Given the description of an element on the screen output the (x, y) to click on. 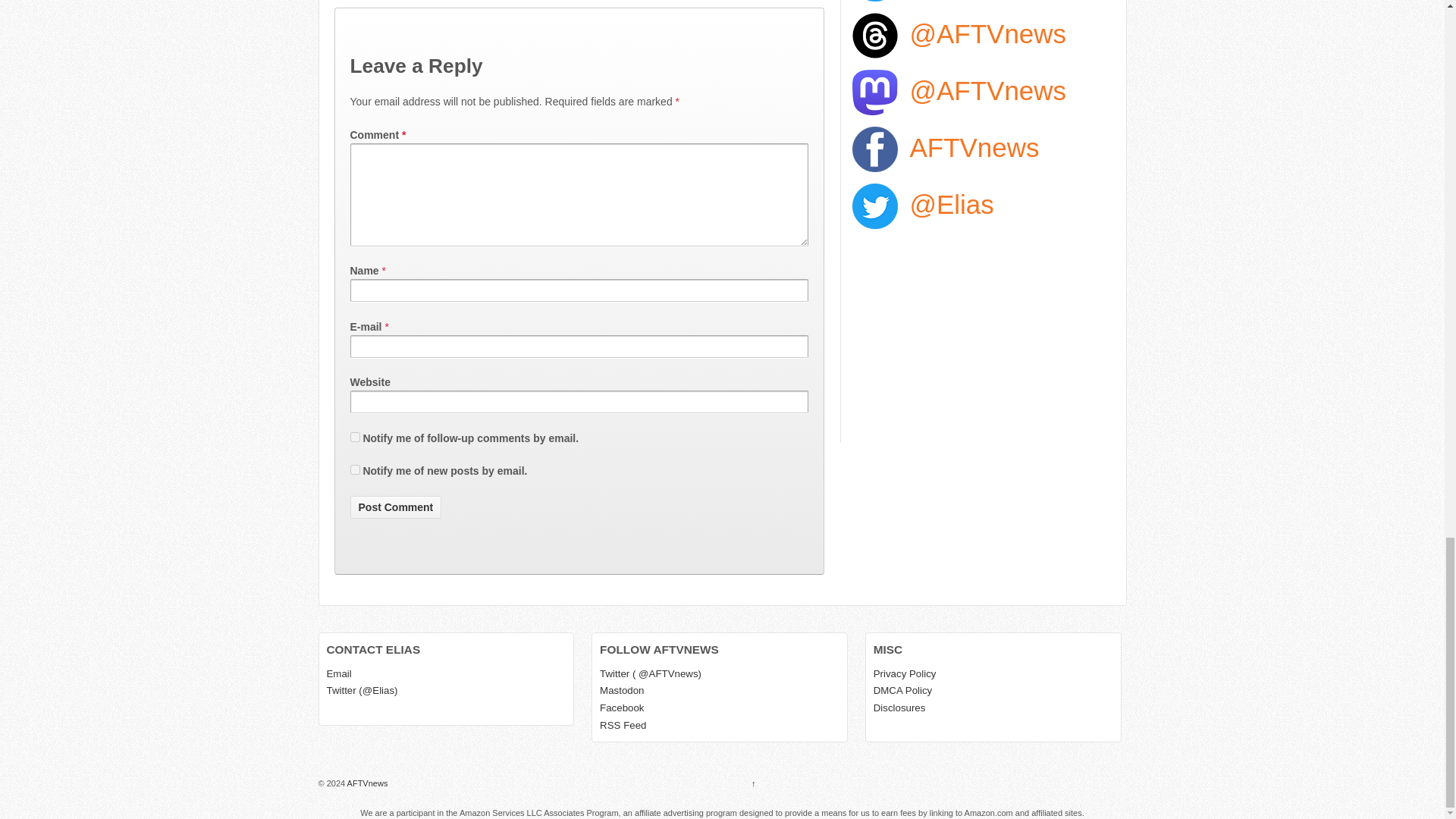
subscribe (354, 470)
Post Comment (396, 507)
subscribe (354, 437)
